Given the description of an element on the screen output the (x, y) to click on. 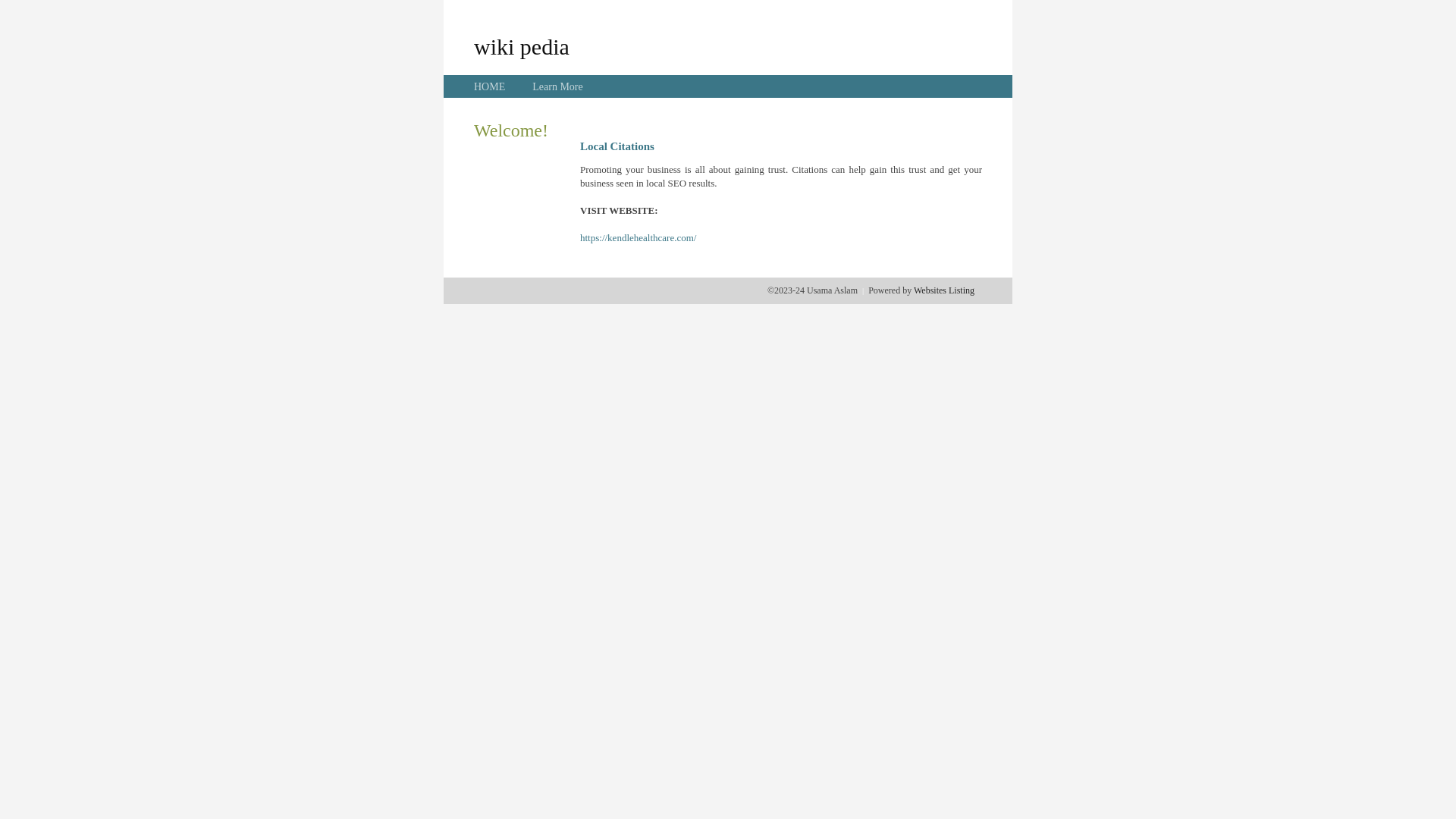
https://kendlehealthcare.com/ Element type: text (638, 237)
Websites Listing Element type: text (943, 290)
Learn More Element type: text (557, 86)
HOME Element type: text (489, 86)
wiki pedia Element type: text (521, 46)
